Given the description of an element on the screen output the (x, y) to click on. 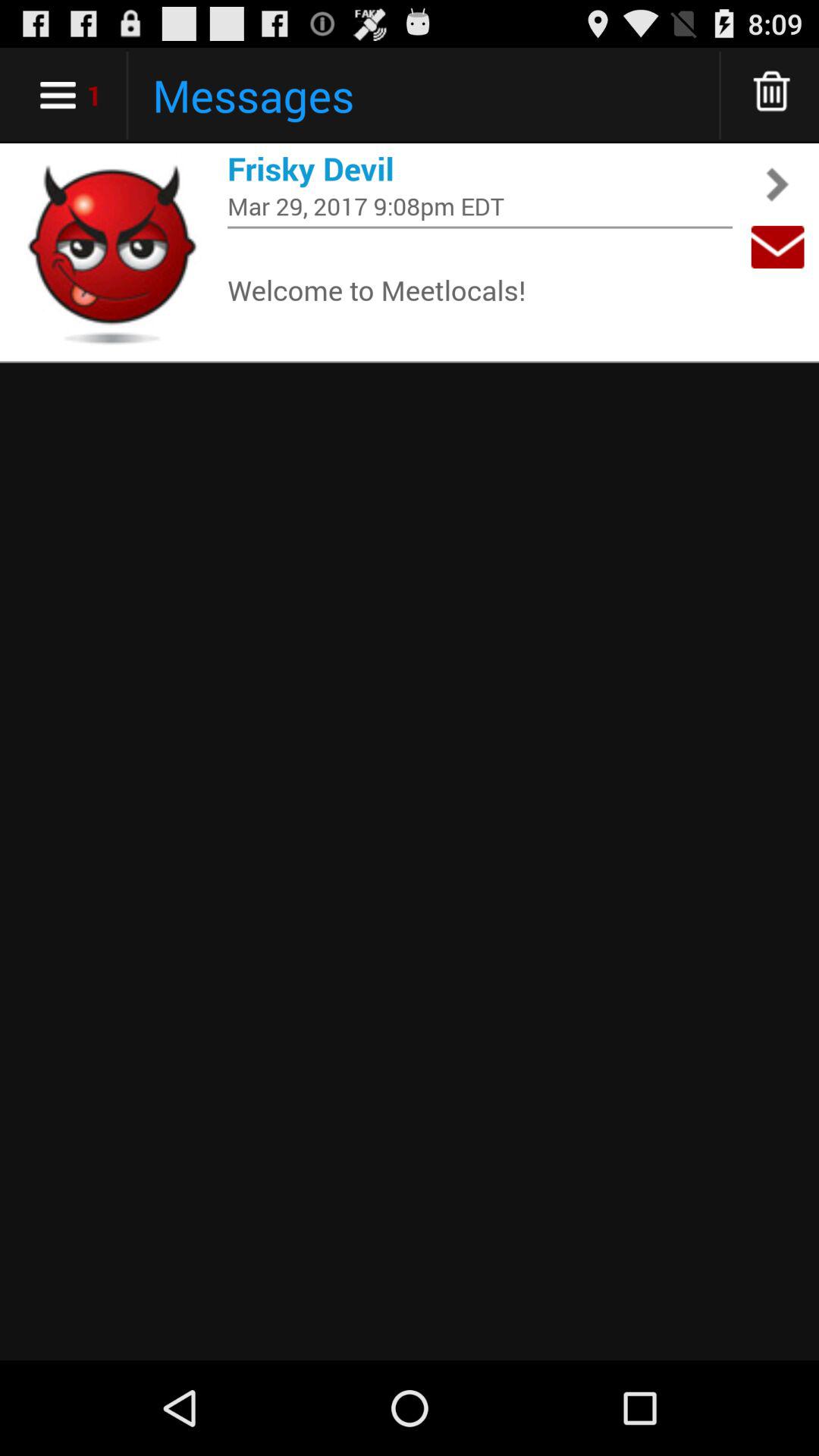
turn on frisky devil icon (479, 168)
